Given the description of an element on the screen output the (x, y) to click on. 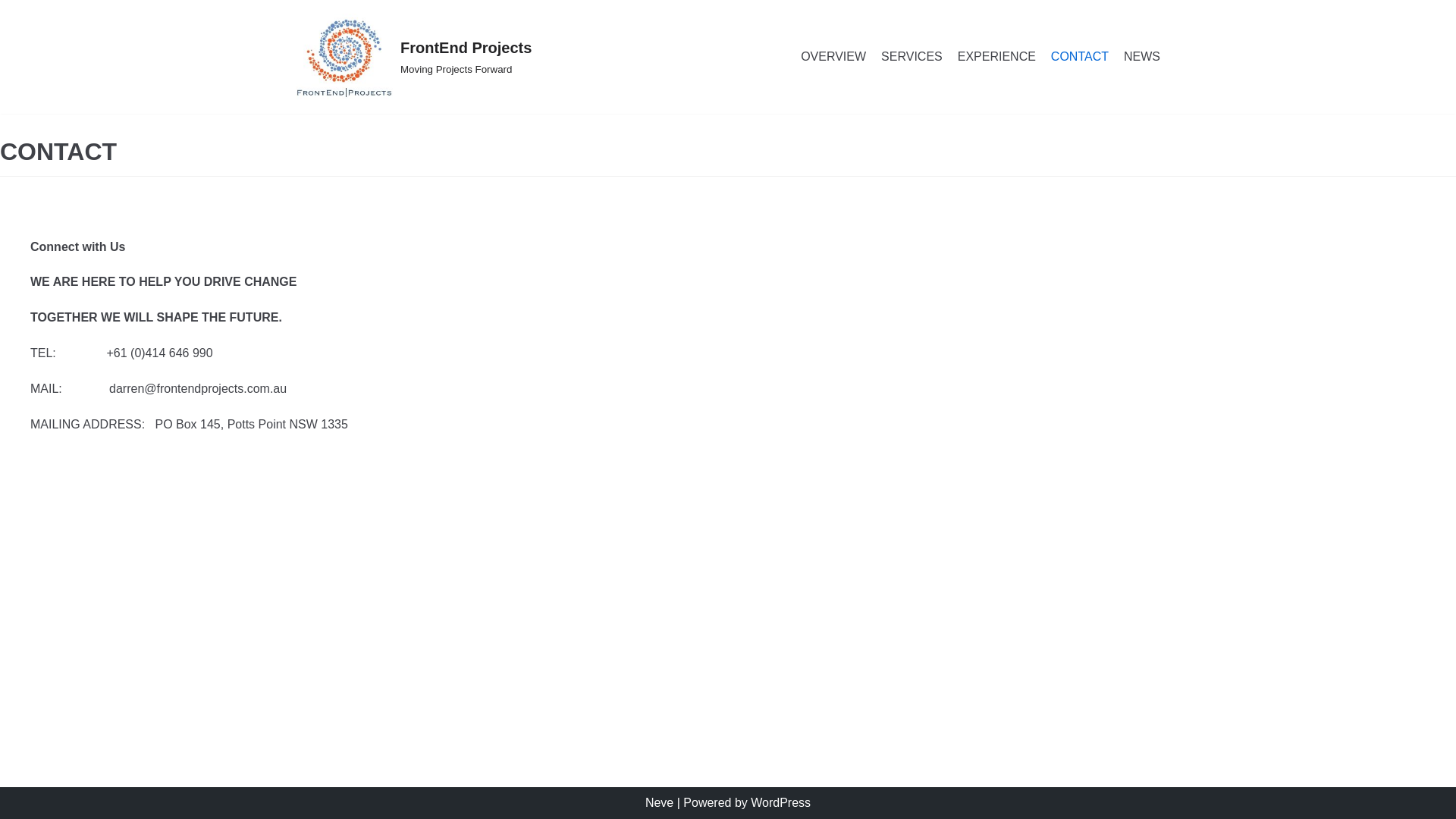
CONTACT Element type: text (1079, 56)
Skip to content Element type: text (15, 7)
SERVICES Element type: text (911, 56)
FrontEnd Projects
Moving Projects Forward Element type: text (413, 56)
OVERVIEW Element type: text (833, 56)
EXPERIENCE Element type: text (996, 56)
NEWS Element type: text (1141, 56)
WordPress Element type: text (780, 802)
Neve Element type: text (659, 802)
